Given the description of an element on the screen output the (x, y) to click on. 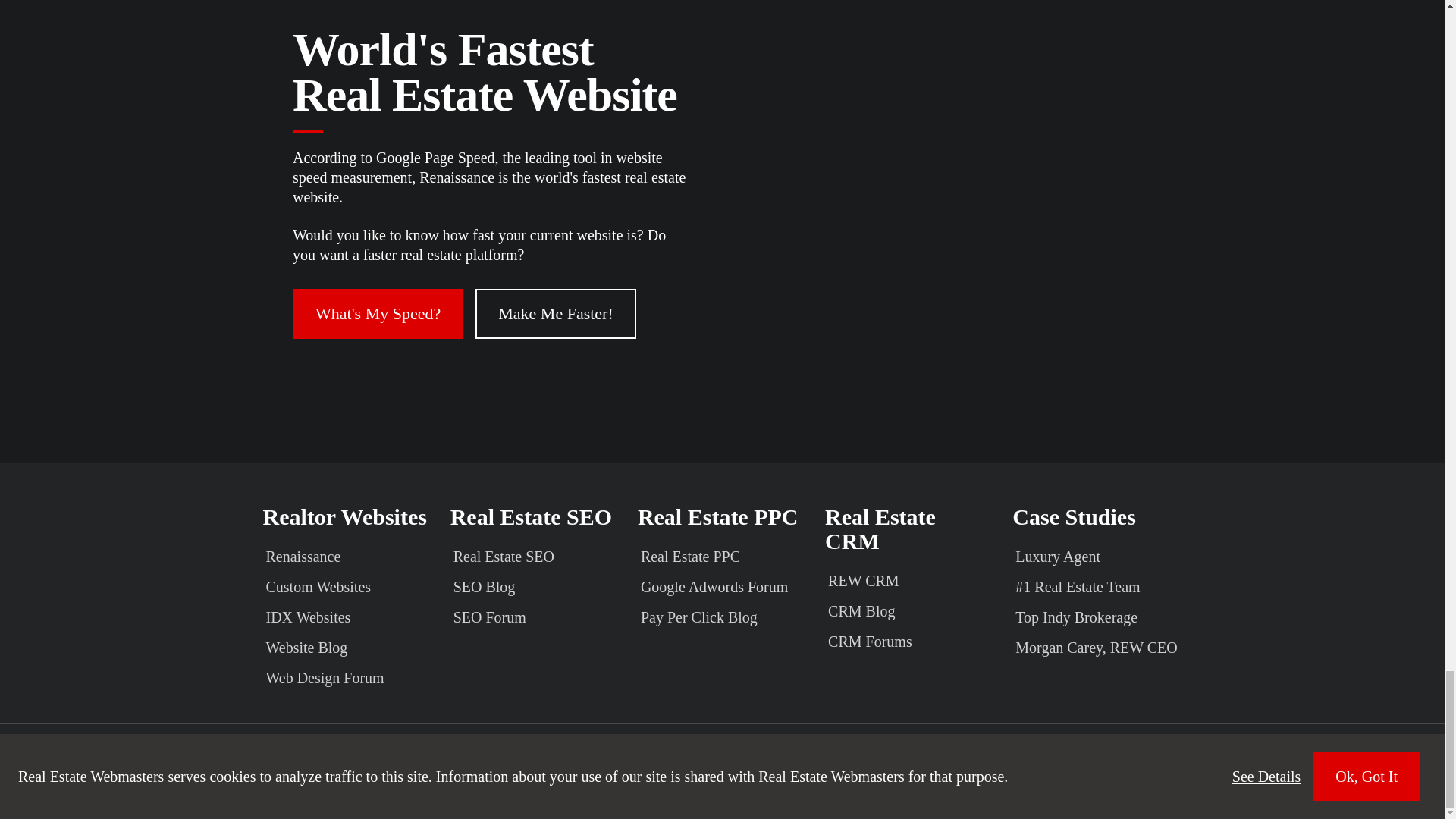
What's My Speed? (377, 314)
Real Estate Webmasters phone number (1254, 751)
Make Me Faster! (556, 314)
Renaissance (346, 556)
